Given the description of an element on the screen output the (x, y) to click on. 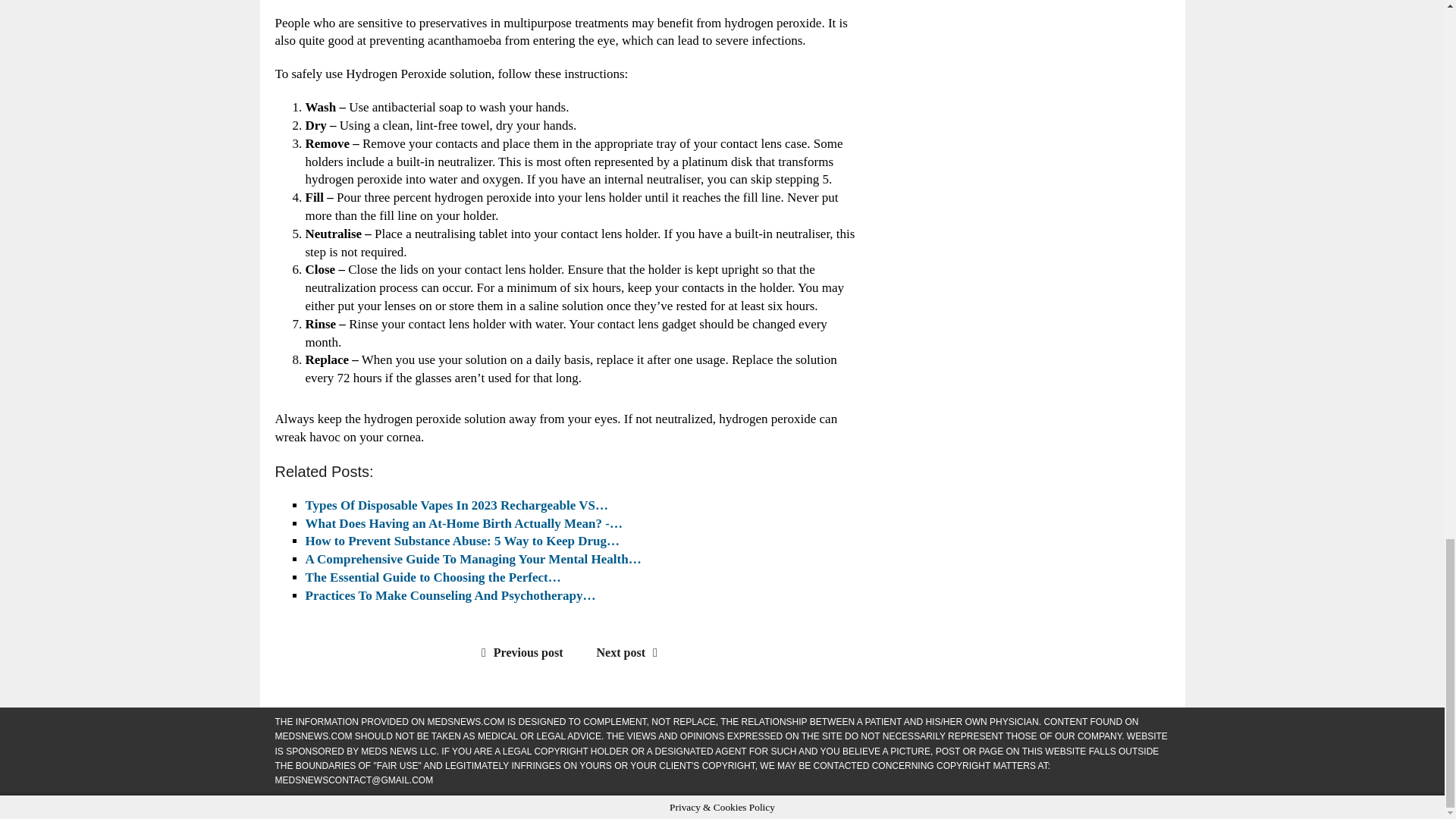
Next post (630, 652)
Previous post (518, 652)
